Given the description of an element on the screen output the (x, y) to click on. 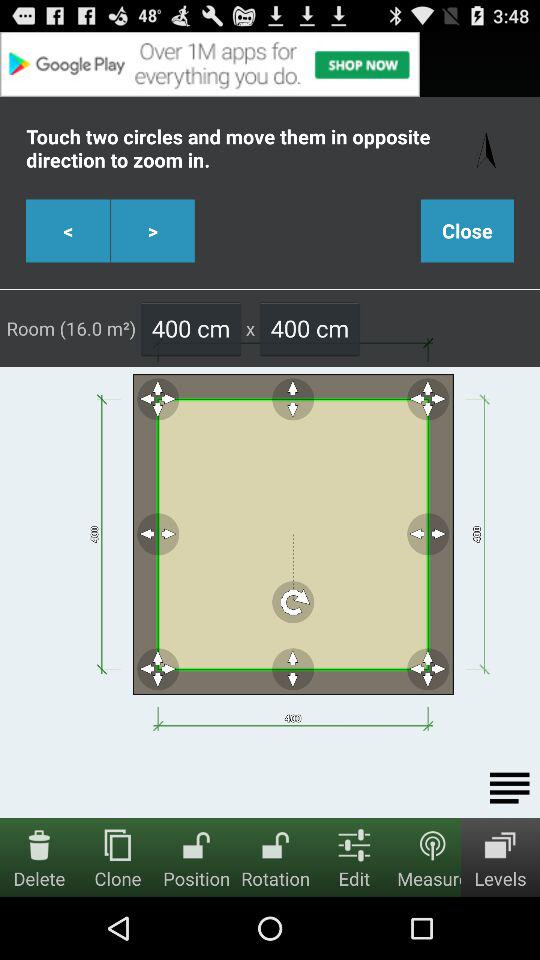
more information (509, 787)
